Given the description of an element on the screen output the (x, y) to click on. 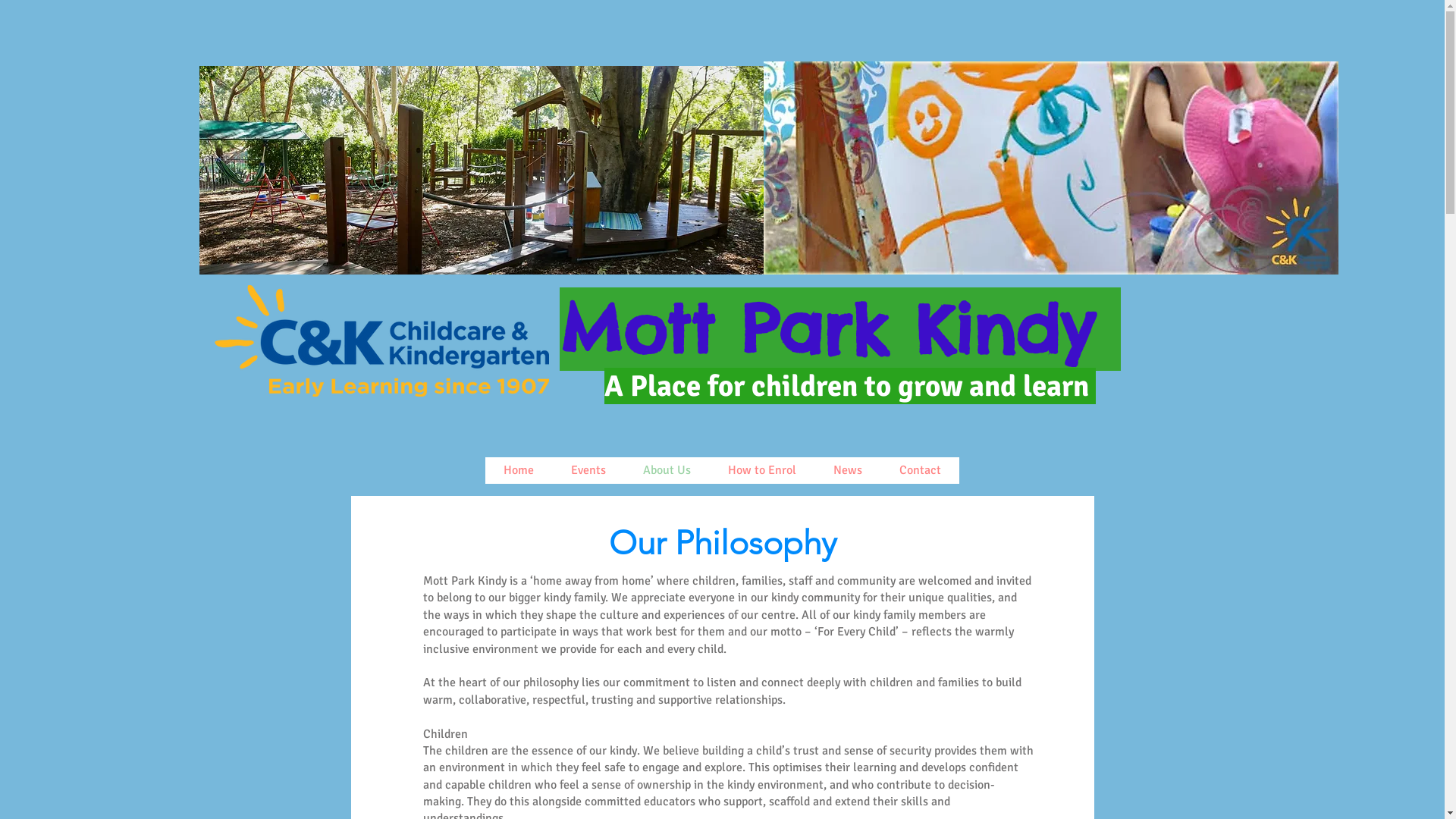
CK-logo_lsc_with-tag_rgb_hr (1).png Element type: hover (380, 340)
Mott Park Kindy  Element type: text (839, 328)
How to Enrol Element type: text (760, 470)
About Us Element type: text (665, 470)
News Element type: text (847, 470)
Events Element type: text (588, 470)
Contact Element type: text (918, 470)
Home Element type: text (518, 470)
